Given the description of an element on the screen output the (x, y) to click on. 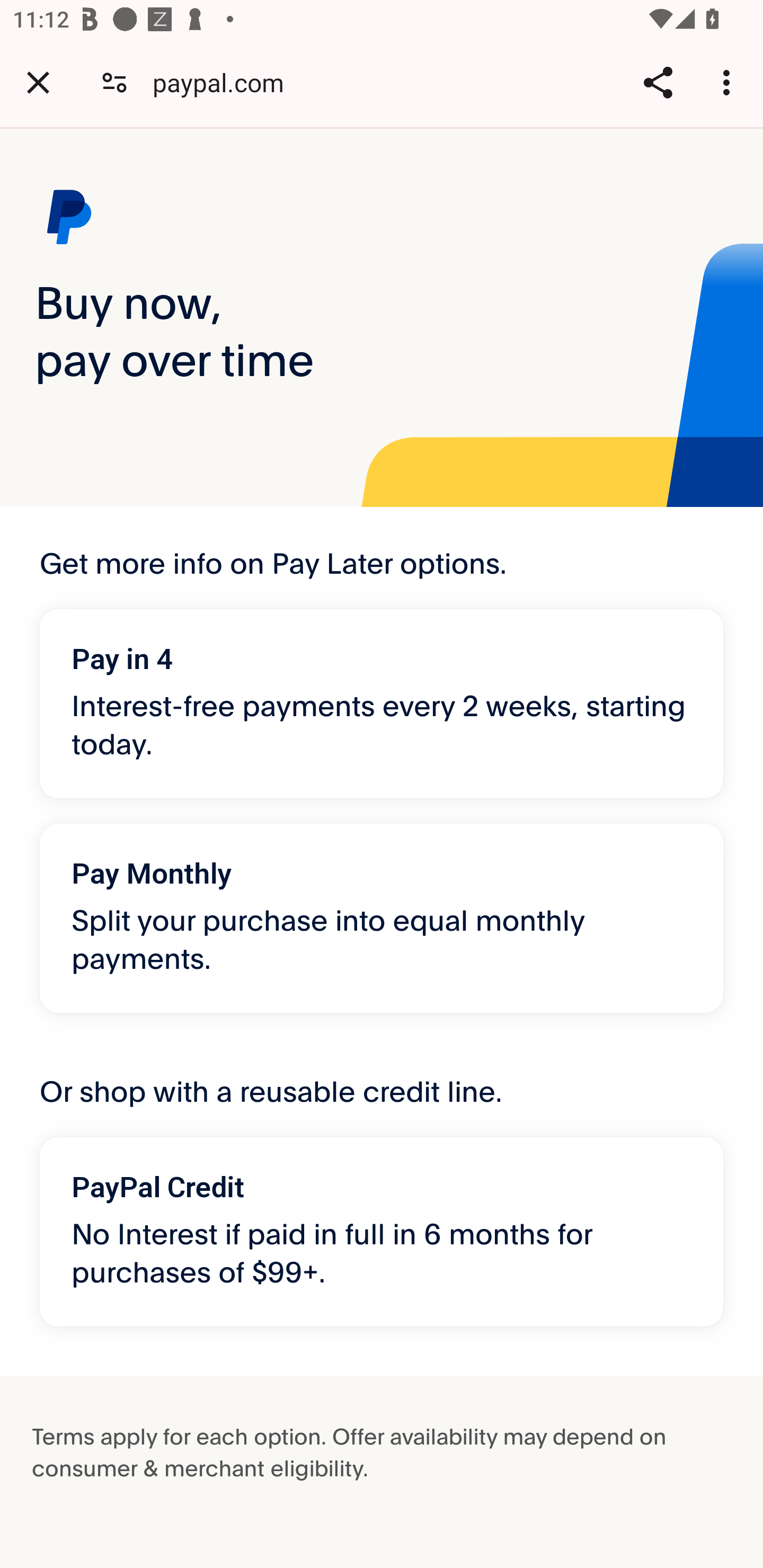
Close tab (38, 82)
Share (657, 82)
Customize and control Google Chrome (729, 82)
Connection is secure (114, 81)
paypal.com (224, 81)
